Given the description of an element on the screen output the (x, y) to click on. 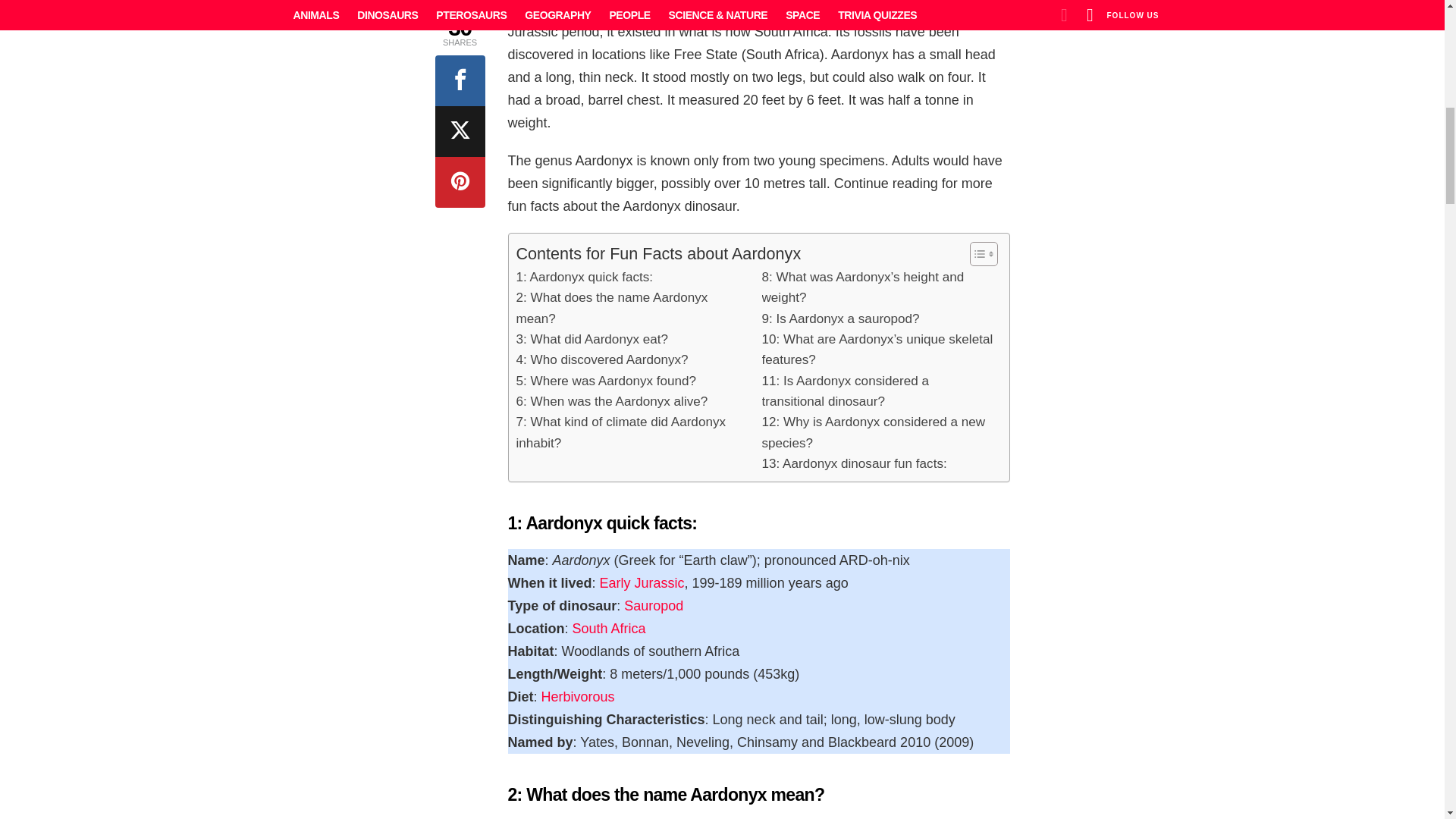
3: What did Aardonyx eat? (591, 339)
5: Where was Aardonyx found? (605, 381)
7: What kind of climate did Aardonyx inhabit? (631, 432)
9: Is Aardonyx a sauropod? (839, 318)
3: What did Aardonyx eat? (591, 339)
7: What kind of climate did Aardonyx inhabit? (631, 432)
2: What does the name Aardonyx mean? (631, 308)
1: Aardonyx quick facts: (583, 276)
4: Who discovered Aardonyx? (601, 359)
5: Where was Aardonyx found? (605, 381)
6: When was the Aardonyx alive? (611, 401)
2: What does the name Aardonyx mean? (631, 308)
dinosaur (621, 8)
1: Aardonyx quick facts: (583, 276)
6: When was the Aardonyx alive? (611, 401)
